Given the description of an element on the screen output the (x, y) to click on. 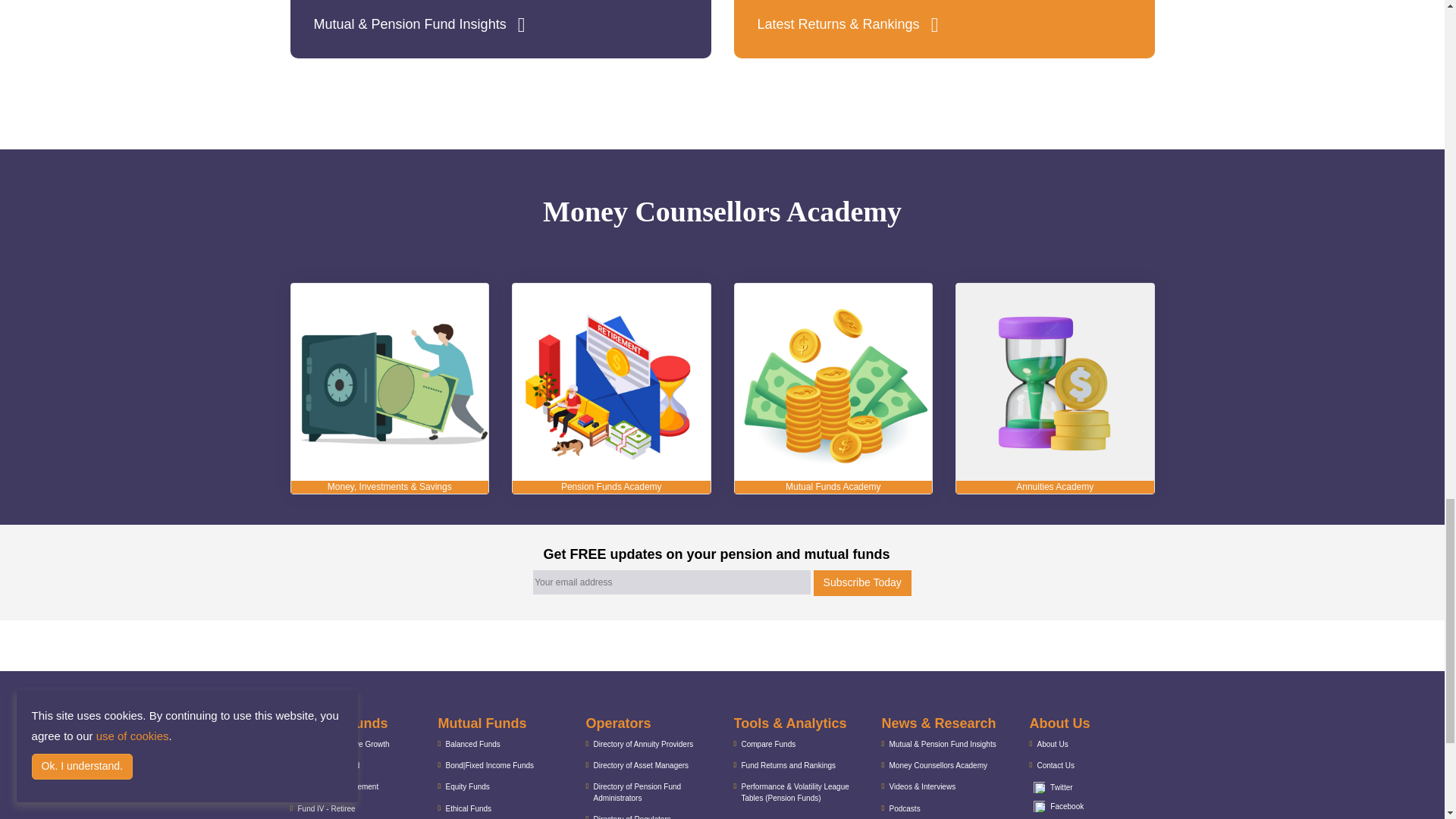
Subscribe Today (862, 583)
